Given the description of an element on the screen output the (x, y) to click on. 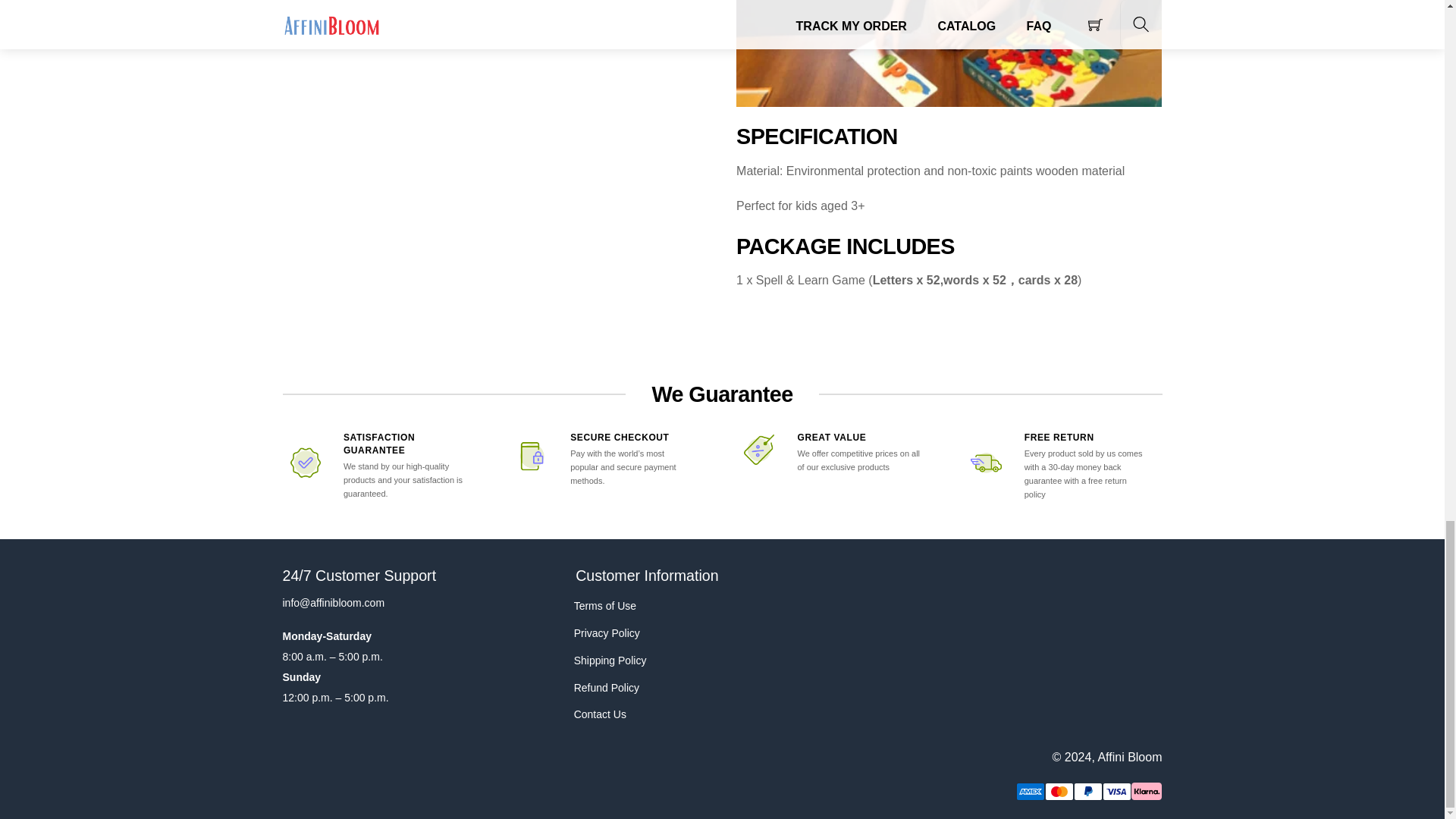
Shipping Policy (659, 660)
Terms of Use (659, 605)
Refund Policy (659, 687)
Privacy Policy (659, 633)
Contact Us (659, 714)
